Given the description of an element on the screen output the (x, y) to click on. 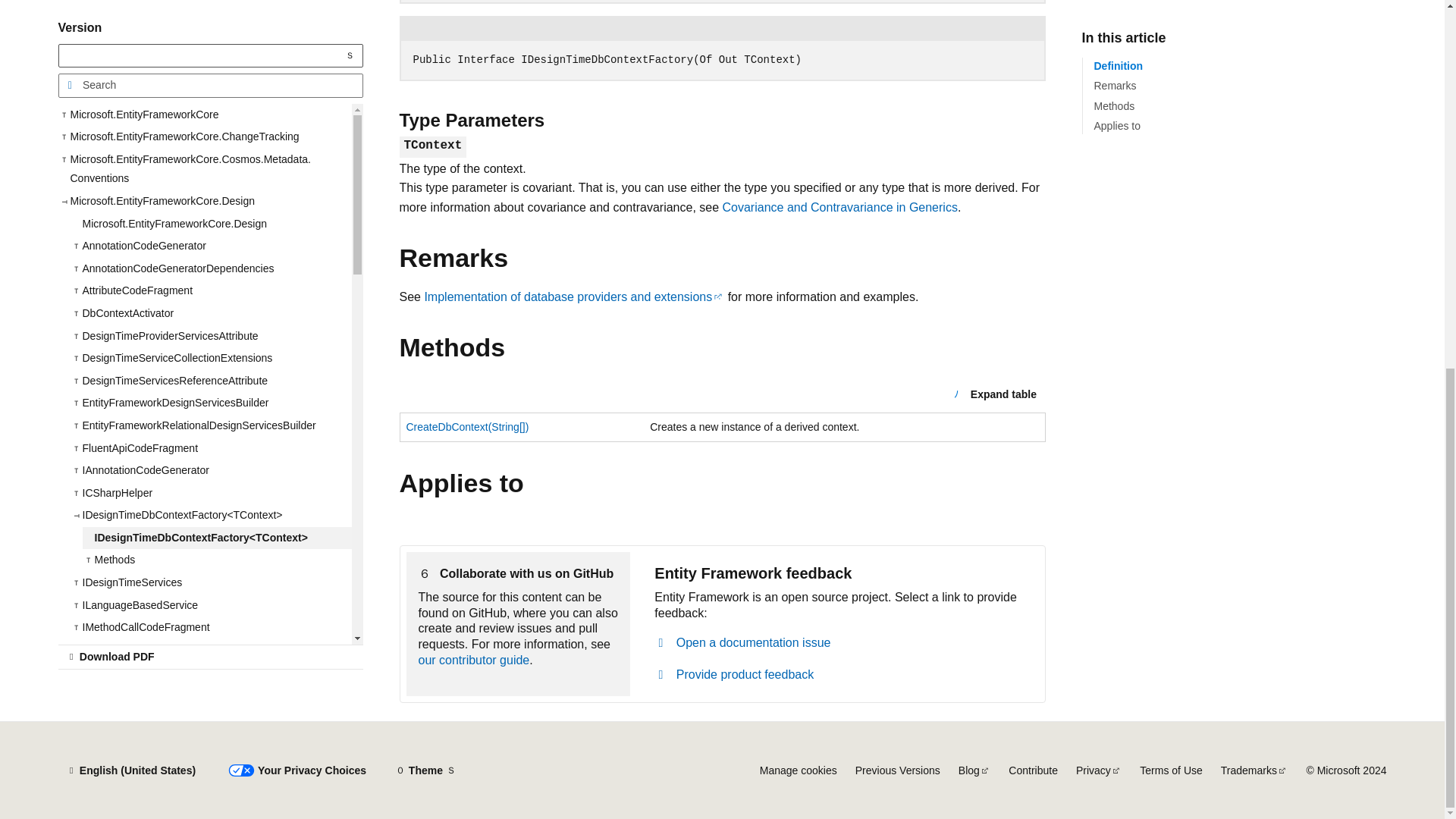
Theme (425, 770)
